Given the description of an element on the screen output the (x, y) to click on. 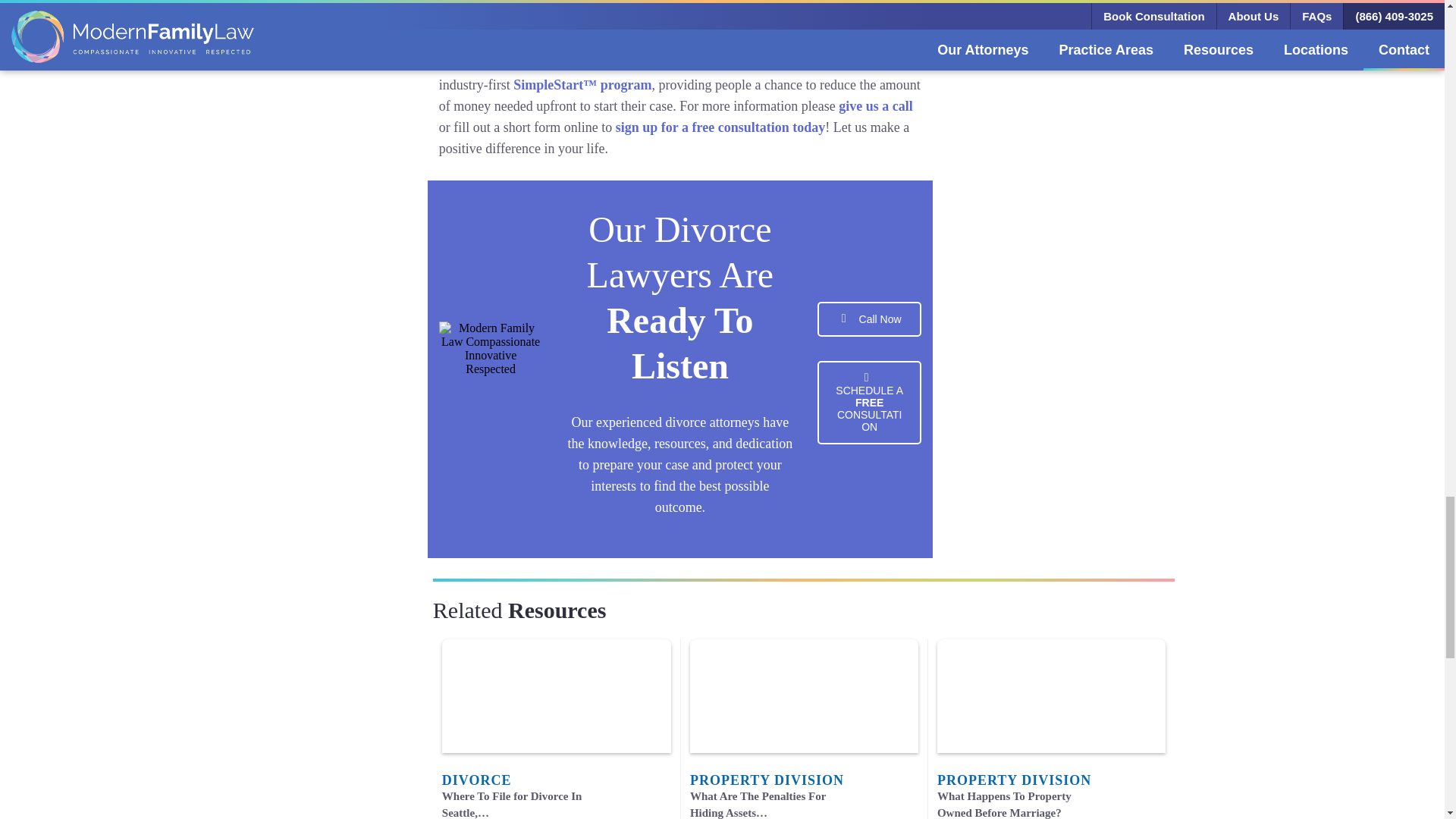
Compassionate-Innovative-Respected (491, 373)
